Given the description of an element on the screen output the (x, y) to click on. 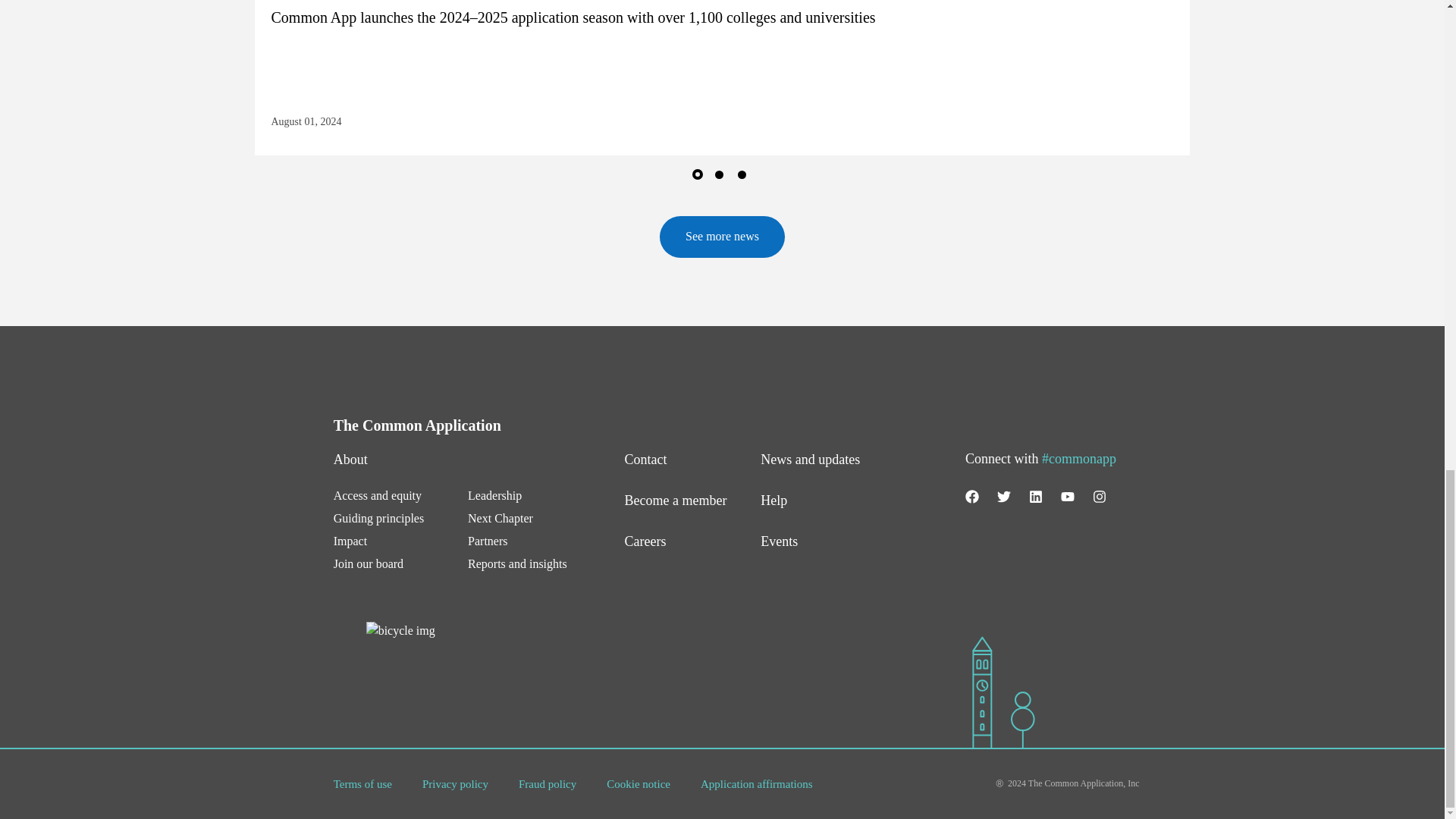
3 (744, 177)
See more news (721, 236)
1 (698, 177)
Facebook icon (971, 496)
Join our board (368, 563)
Youtube icon (1067, 496)
Guiding principles (379, 517)
2 (721, 177)
Access and equity (377, 495)
Next Chapter (502, 517)
LinkedIn icon (1035, 496)
Impact (349, 540)
About (350, 459)
Twitter icon (1003, 496)
Instagram icon (1099, 496)
